Given the description of an element on the screen output the (x, y) to click on. 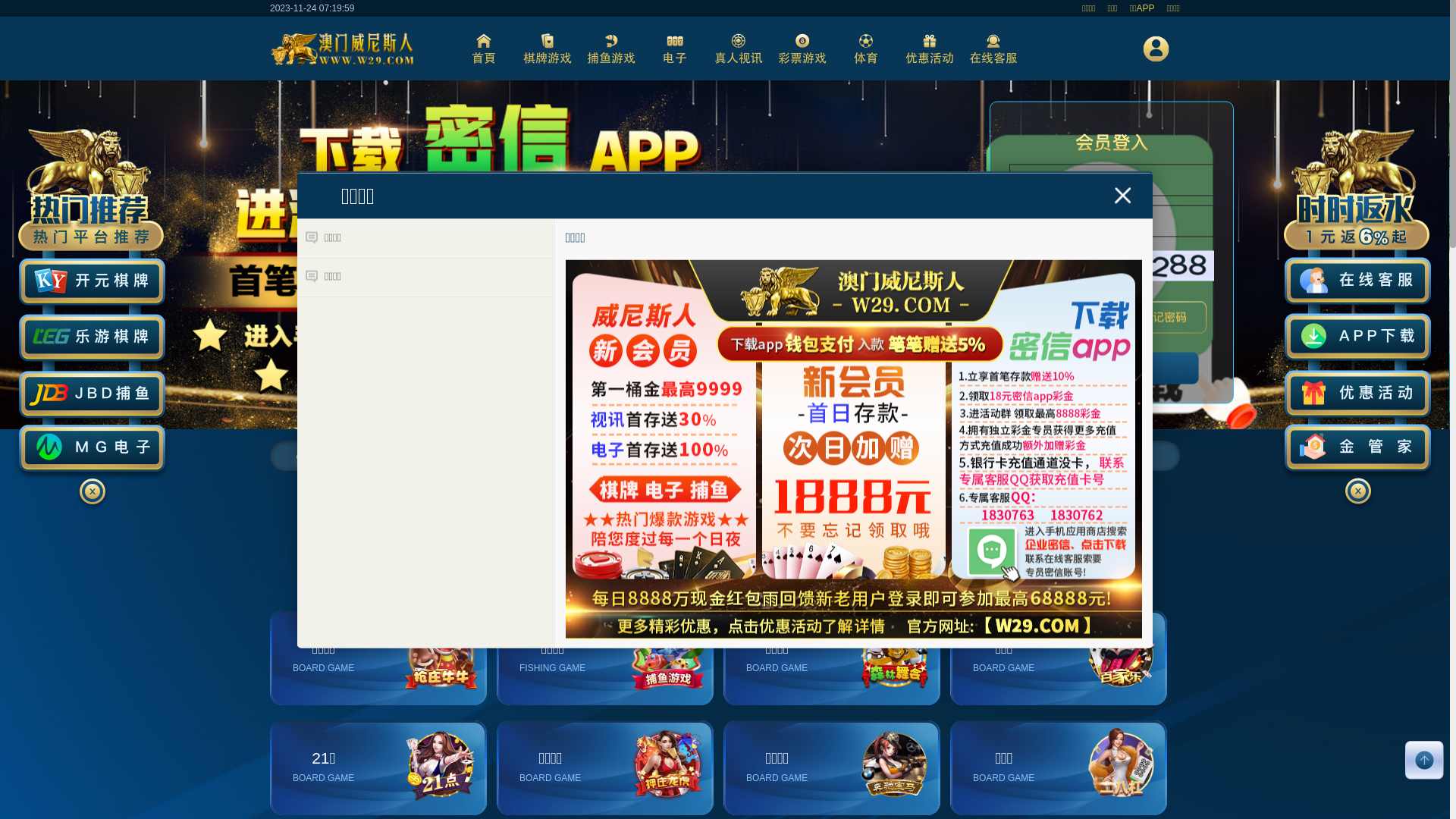
2023-11-24 07:19:58 Element type: text (311, 7)
